Given the description of an element on the screen output the (x, y) to click on. 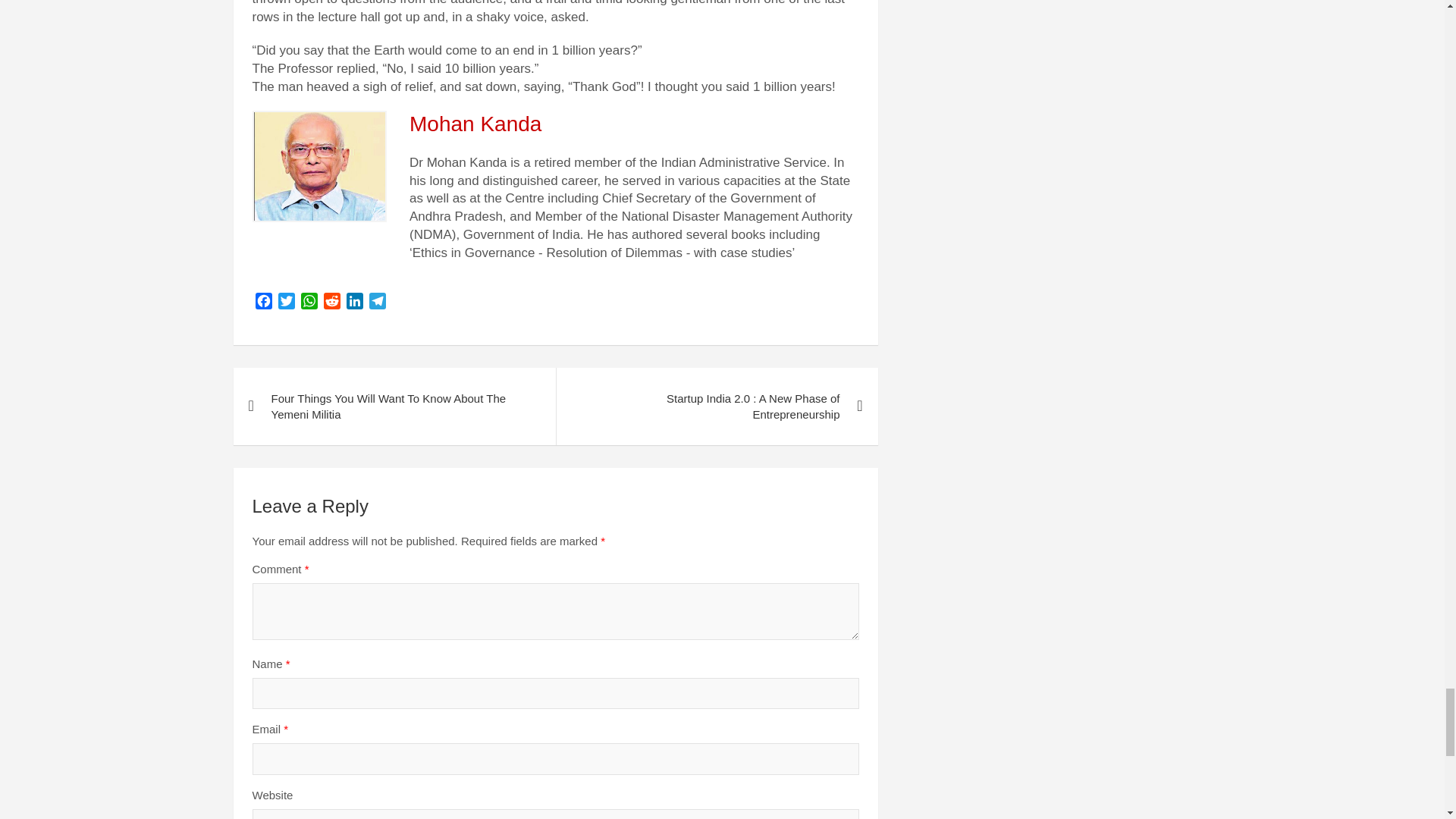
Twitter (286, 302)
Twitter (286, 302)
Telegram (376, 302)
Reddit (331, 302)
Facebook (263, 302)
Facebook (263, 302)
LinkedIn (353, 302)
WhatsApp (308, 302)
Reddit (331, 302)
WhatsApp (308, 302)
